Given the description of an element on the screen output the (x, y) to click on. 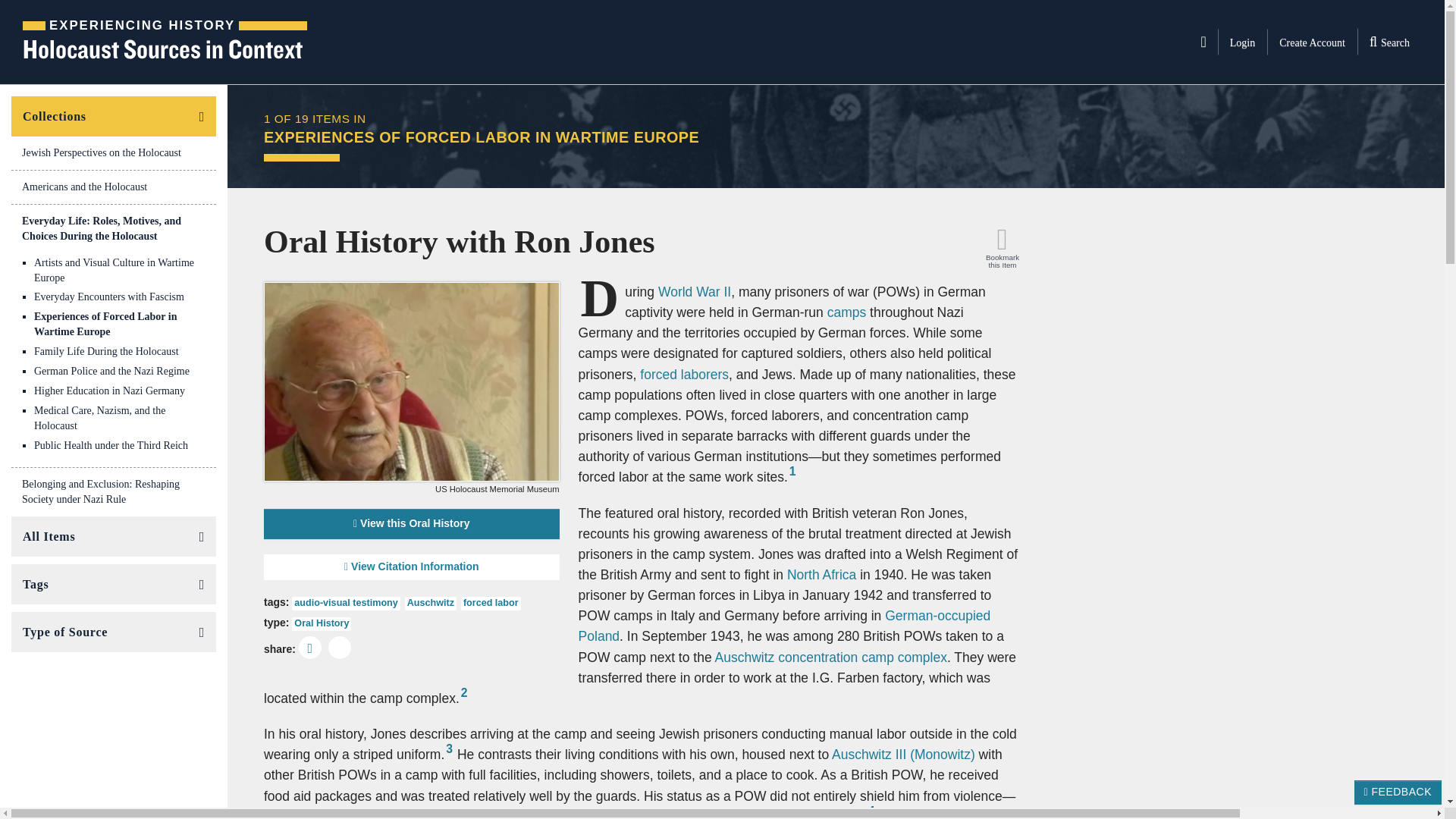
home (165, 41)
Americans and the Holocaust (1203, 41)
Jewish Perspectives on the Holocaust (113, 186)
Create Account (113, 152)
Search (1312, 41)
Login (1389, 41)
Artists and Visual Culture in Wartime Europe (1242, 41)
Skip to main content (119, 270)
